Given the description of an element on the screen output the (x, y) to click on. 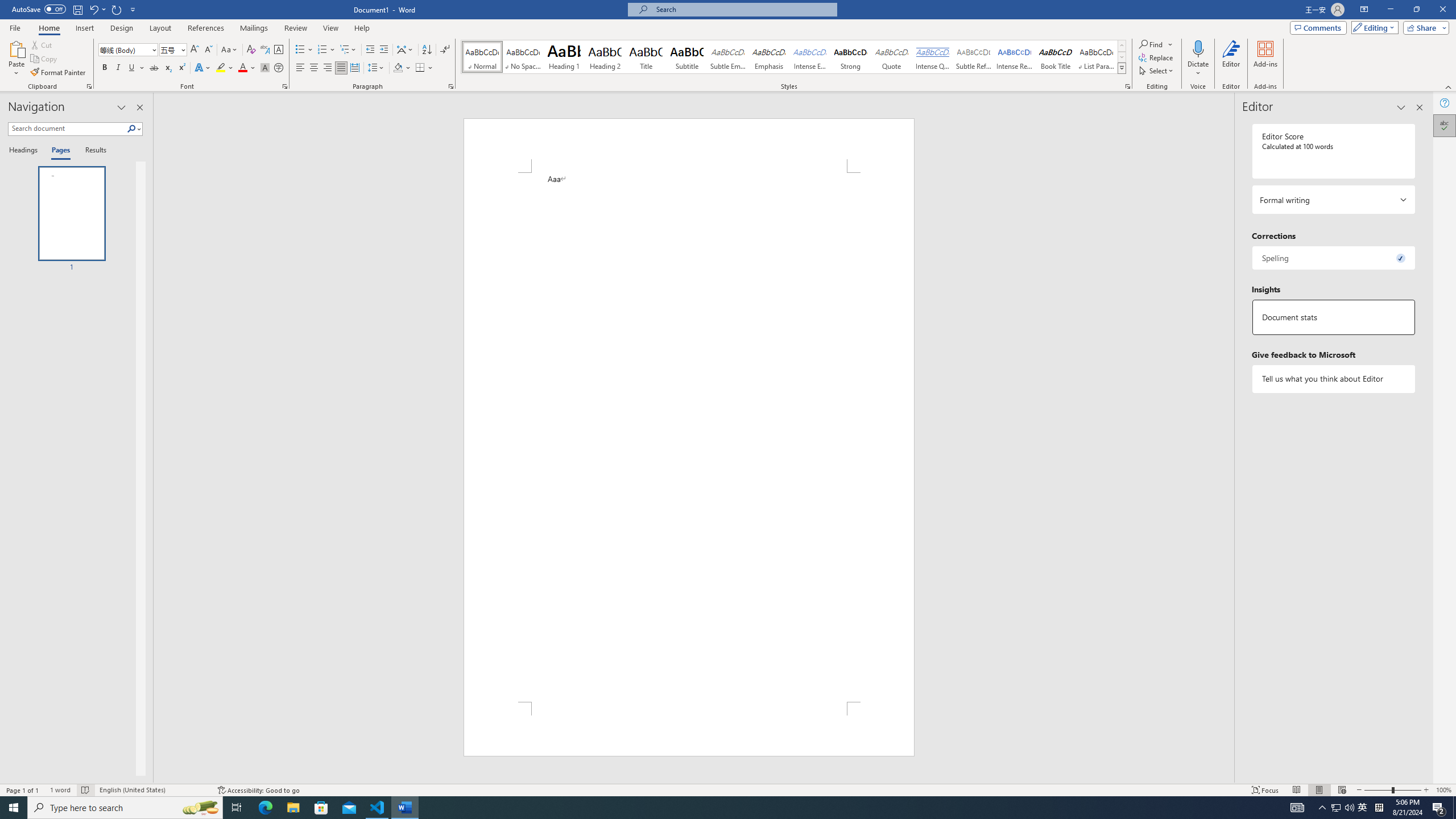
Repeat Increase Indent (117, 9)
Intense Quote (932, 56)
